Given the description of an element on the screen output the (x, y) to click on. 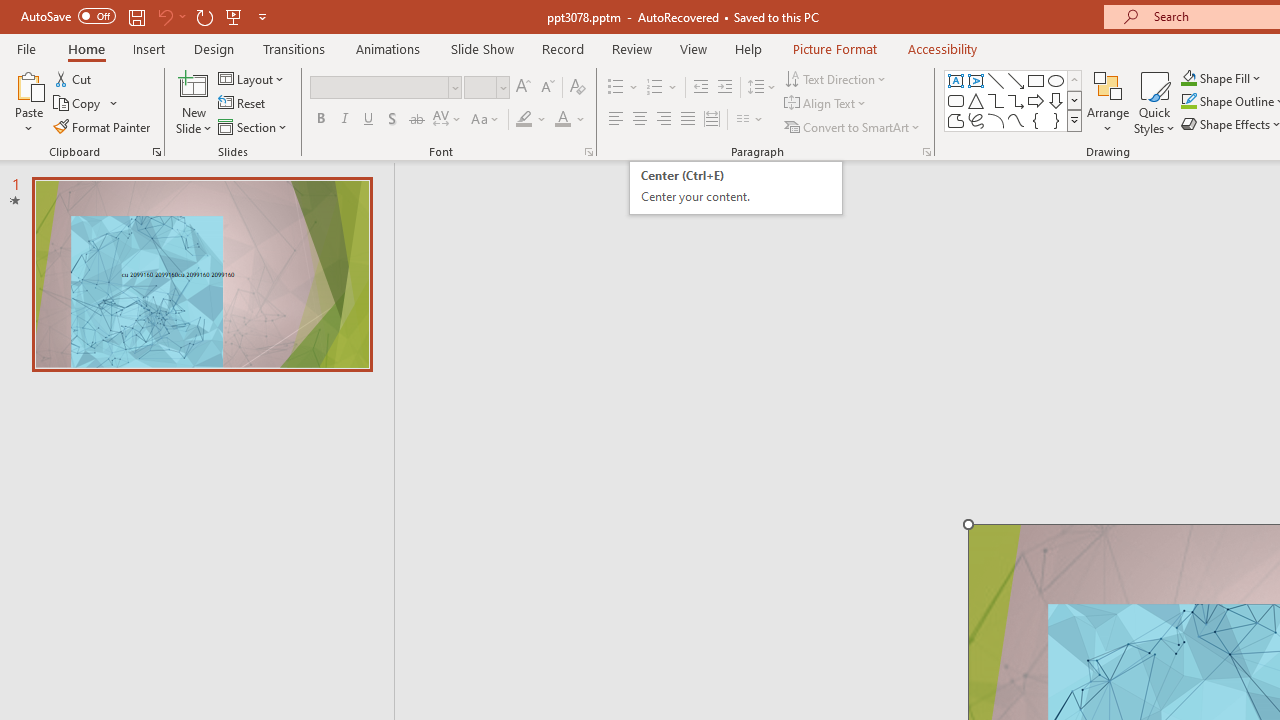
Picture Format (834, 48)
